Given the description of an element on the screen output the (x, y) to click on. 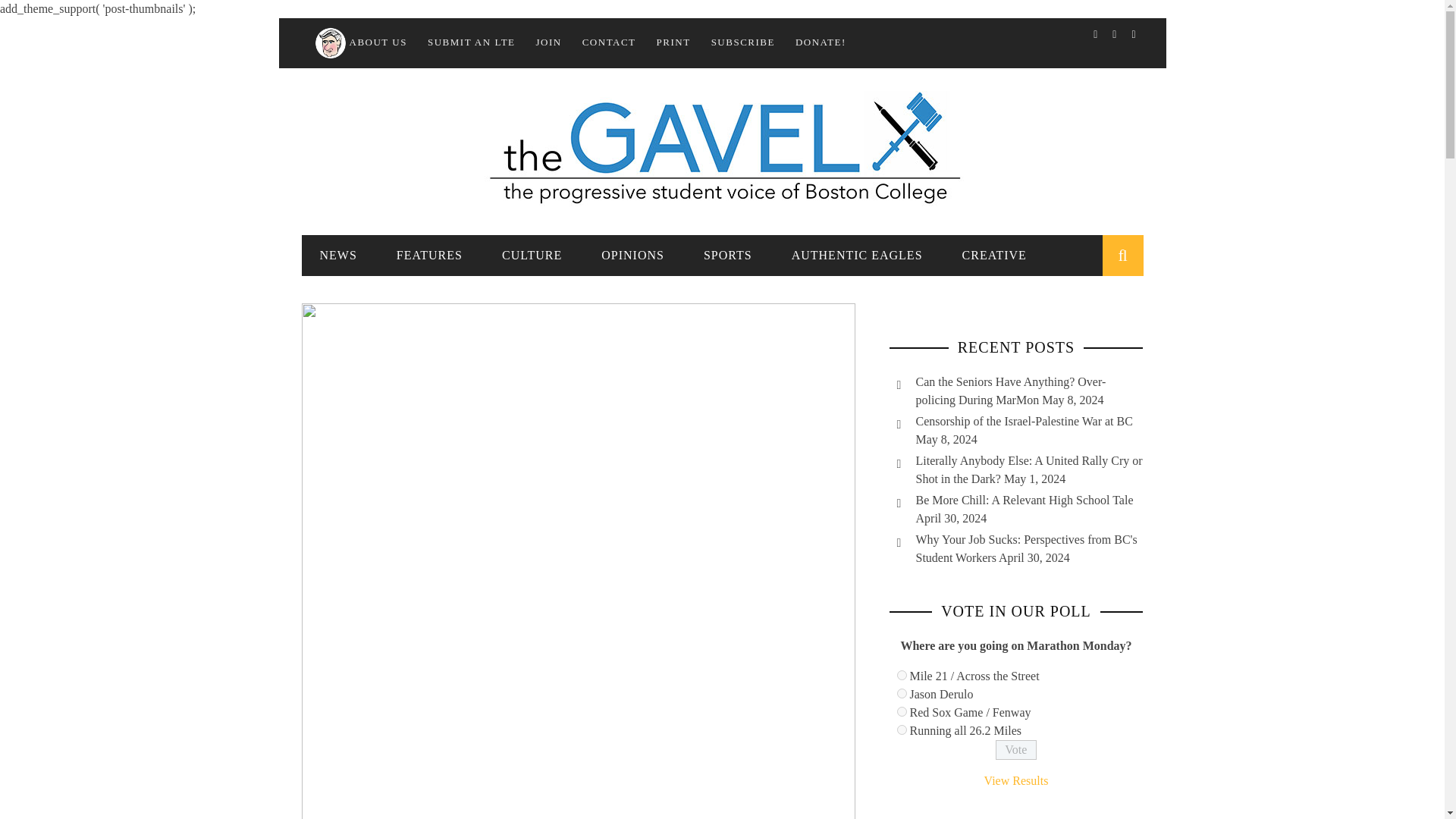
View Results Of This Poll (1016, 780)
SUBMIT AN LTE (471, 41)
189 (900, 711)
ABOUT US (360, 41)
190 (900, 729)
JOIN (548, 41)
188 (900, 693)
   Vote    (1015, 750)
187 (900, 675)
